Given the description of an element on the screen output the (x, y) to click on. 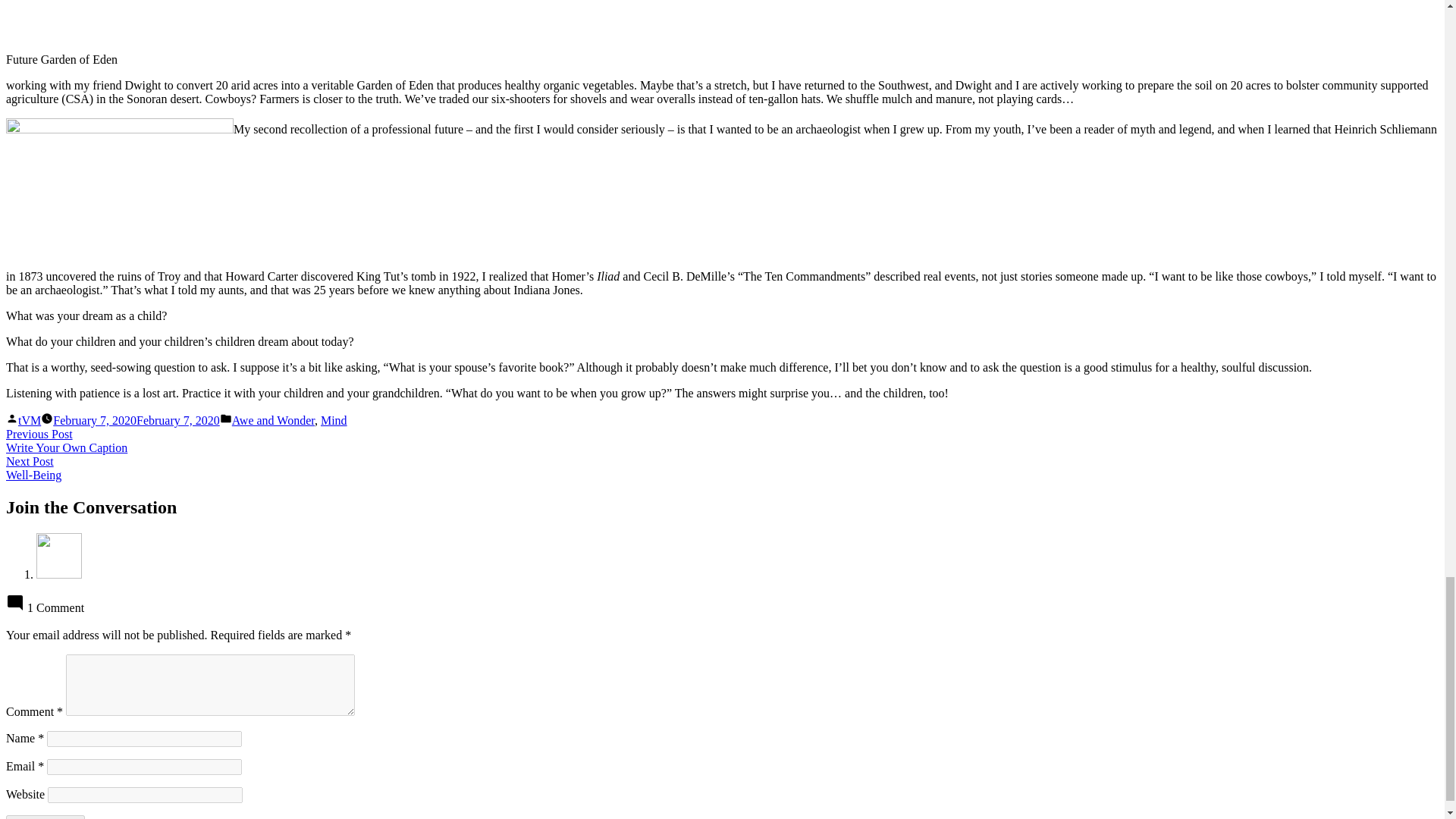
Mind (33, 468)
tVM (333, 420)
Awe and Wonder (28, 420)
February 7, 2020February 7, 2020 (272, 420)
